Given the description of an element on the screen output the (x, y) to click on. 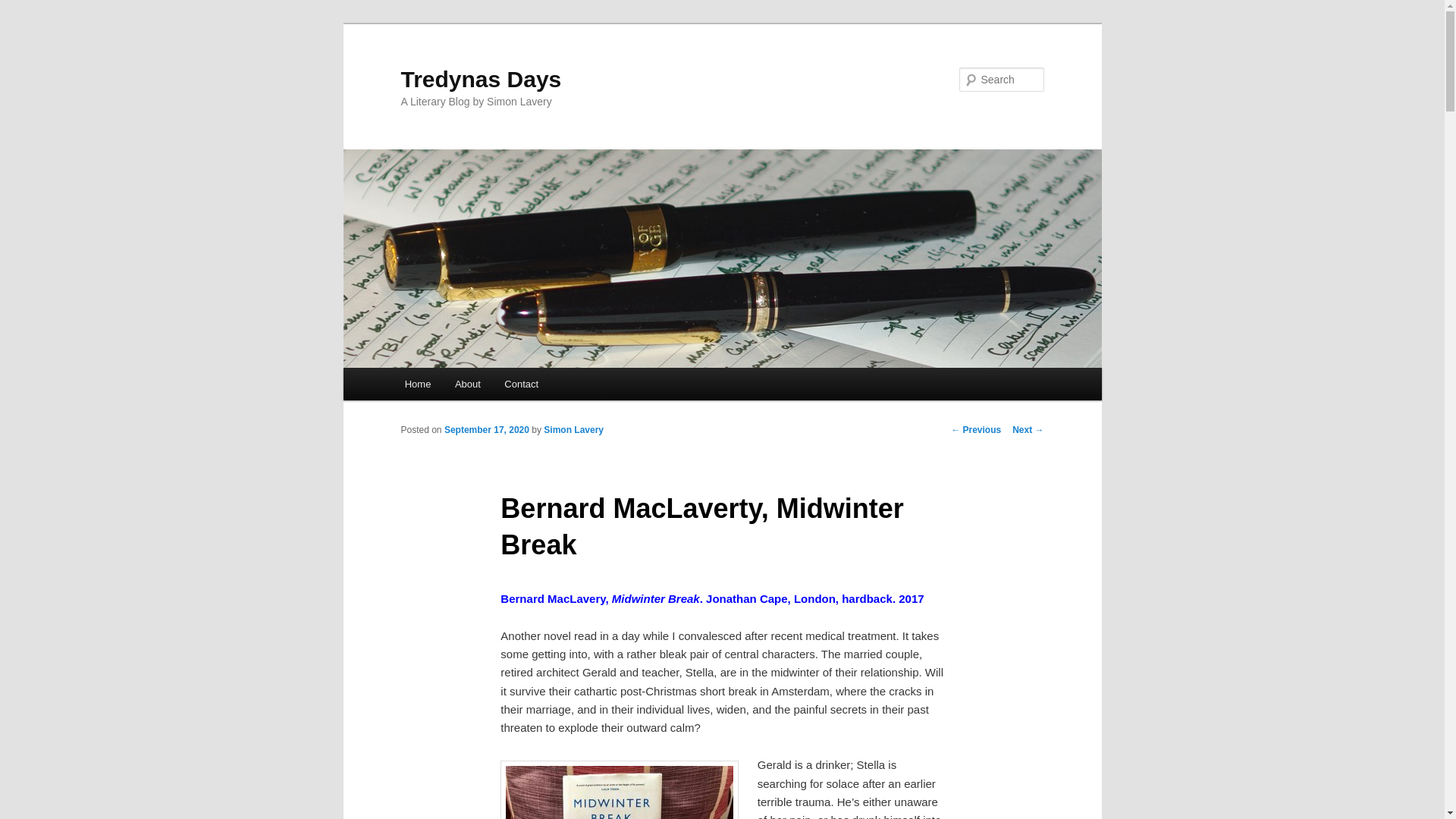
Tredynas Days (480, 78)
September 17, 2020 (486, 429)
12:06 pm (486, 429)
Home (417, 383)
View all posts by Simon Lavery (573, 429)
Search (24, 8)
Simon Lavery (573, 429)
Contact (521, 383)
About (467, 383)
